Given the description of an element on the screen output the (x, y) to click on. 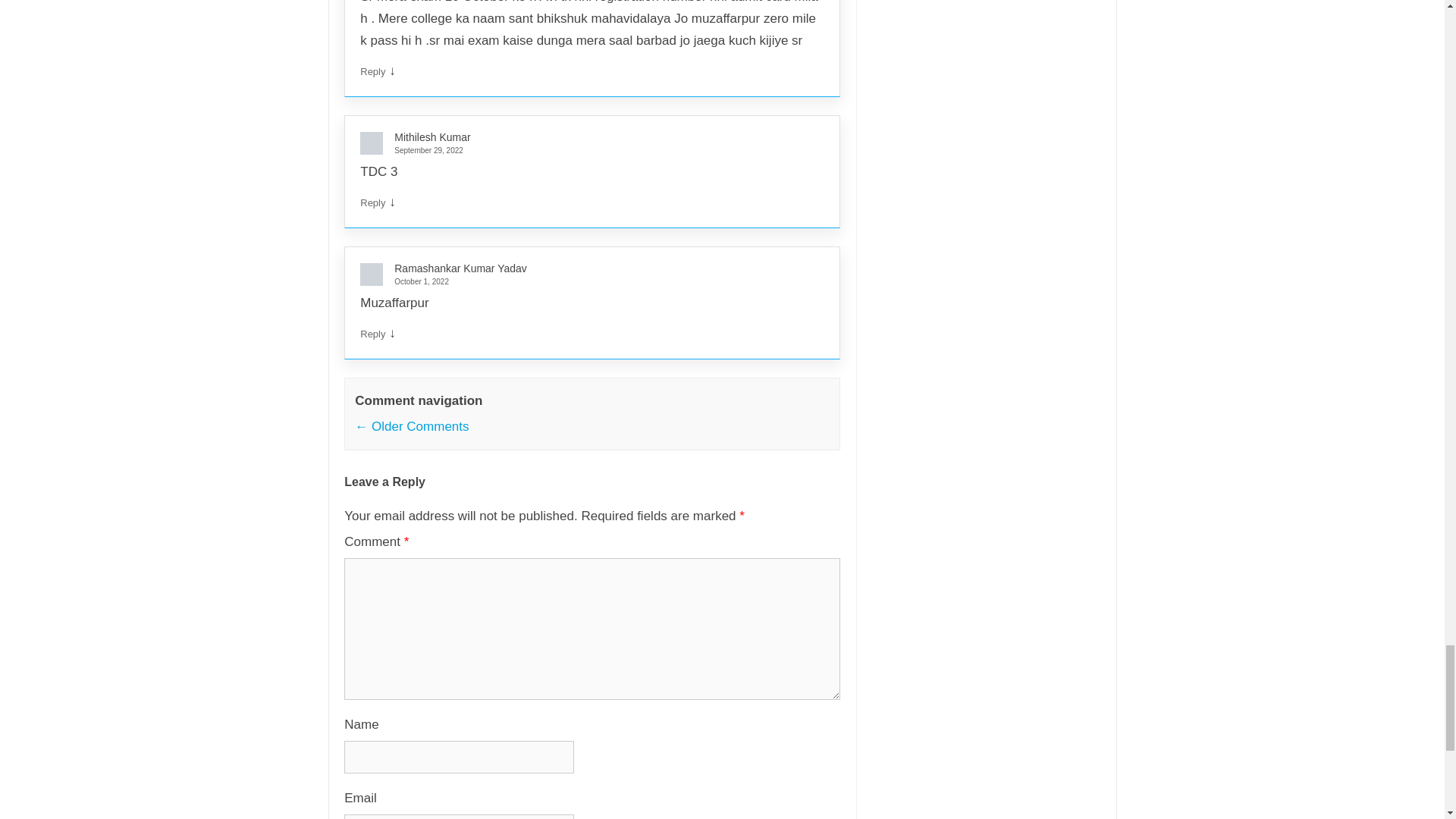
Reply (372, 71)
September 29, 2022 (585, 150)
October 1, 2022 (585, 281)
Reply (372, 202)
Reply (372, 333)
